Given the description of an element on the screen output the (x, y) to click on. 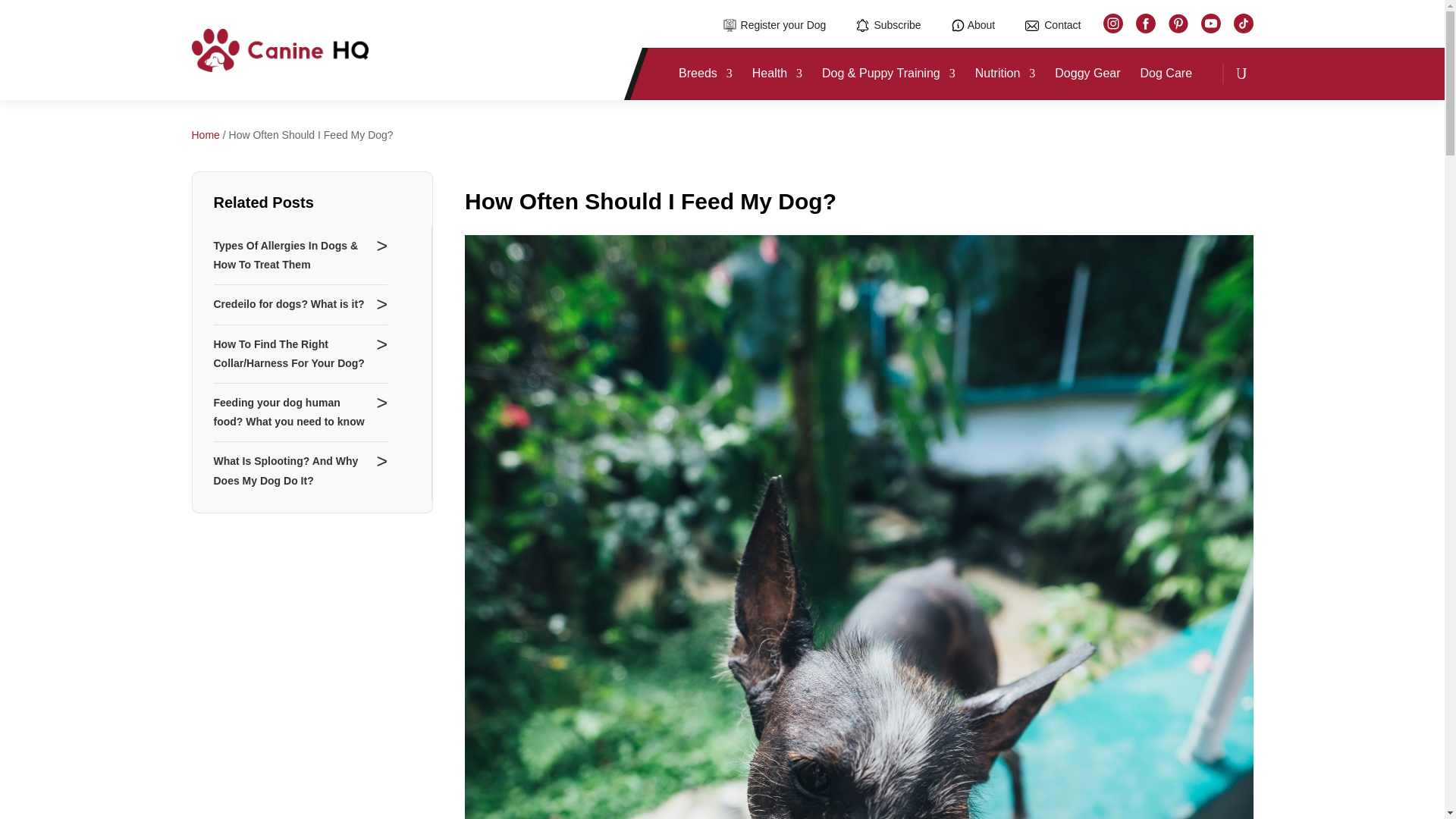
Follow on Youtube (1211, 23)
Follow on Pinterest (1177, 23)
Follow on TikTok (1242, 23)
Contact (1052, 24)
Follow on Instagram (1112, 23)
Follow on Facebook (1145, 23)
About (973, 24)
Subscribe (888, 24)
Register your Dog (775, 24)
Canine HQ (279, 50)
